Given the description of an element on the screen output the (x, y) to click on. 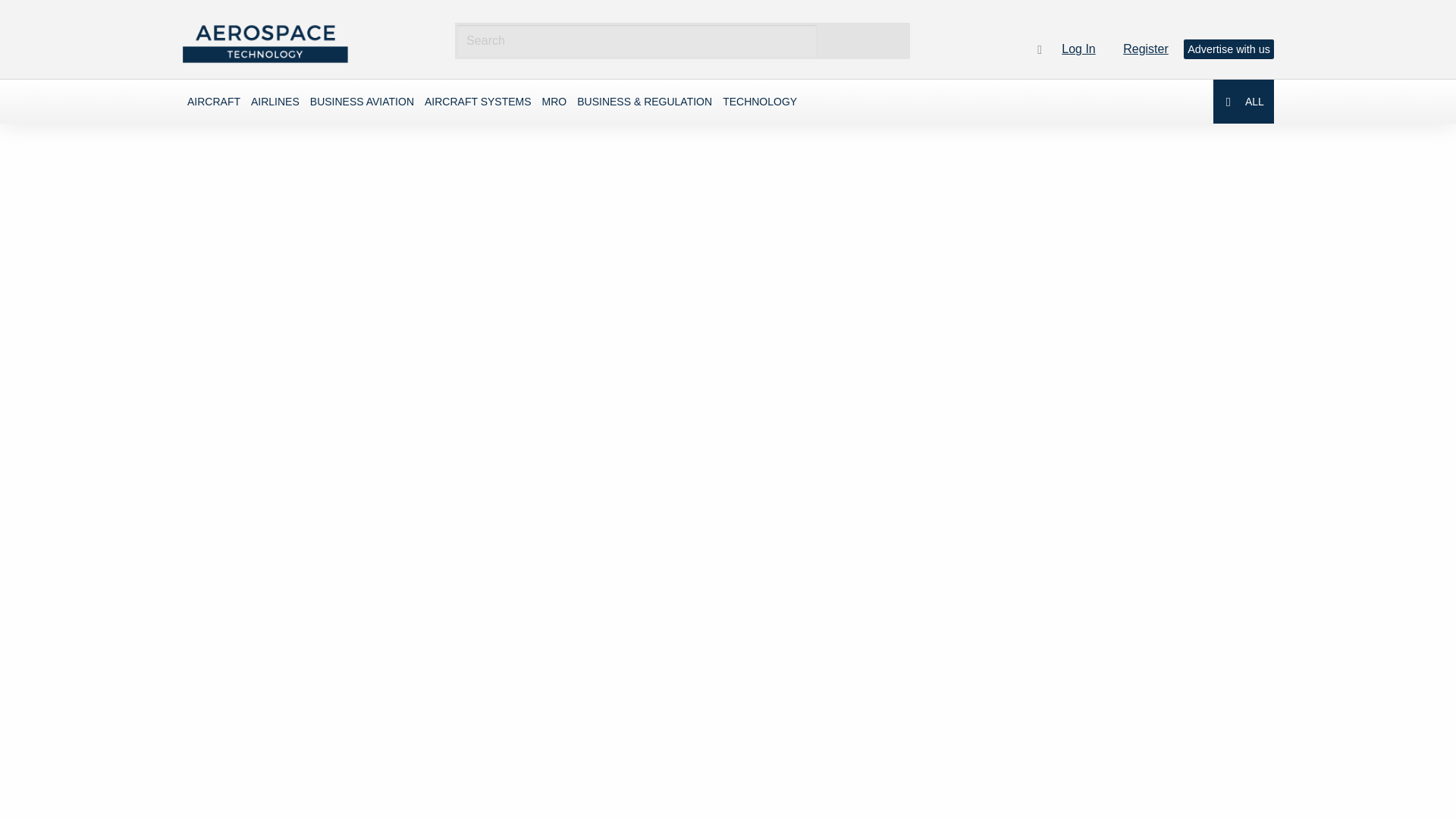
Advertise with us (1228, 48)
Search (864, 40)
Register (1151, 48)
Log In (1083, 48)
